Given the description of an element on the screen output the (x, y) to click on. 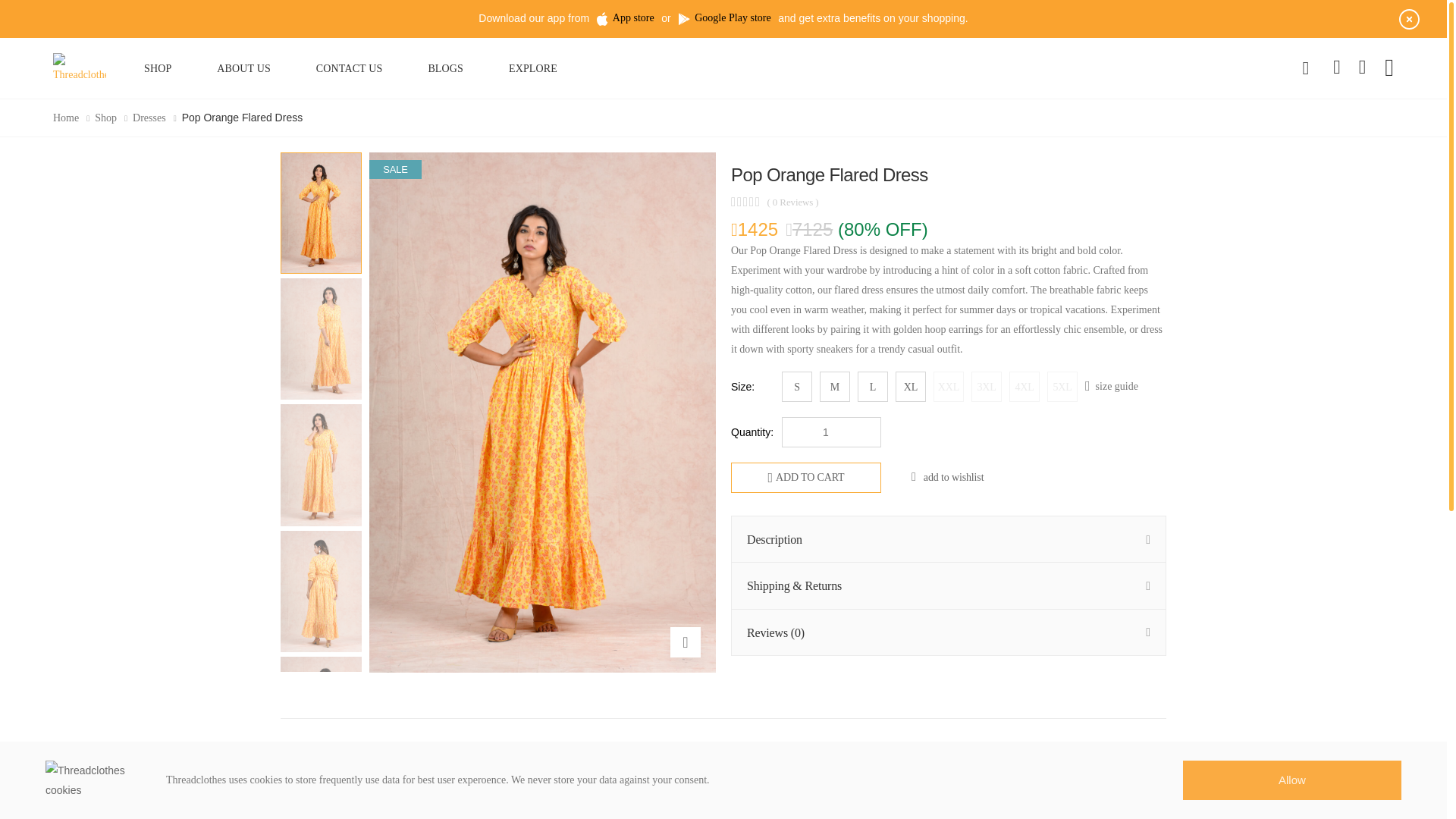
ABOUT US (242, 67)
SHOP (156, 67)
size guide (1111, 385)
Home (65, 117)
App store (626, 17)
add to wishlist (947, 477)
Shop (105, 117)
5XL (1061, 386)
Dresses (148, 117)
1 (830, 431)
